Given the description of an element on the screen output the (x, y) to click on. 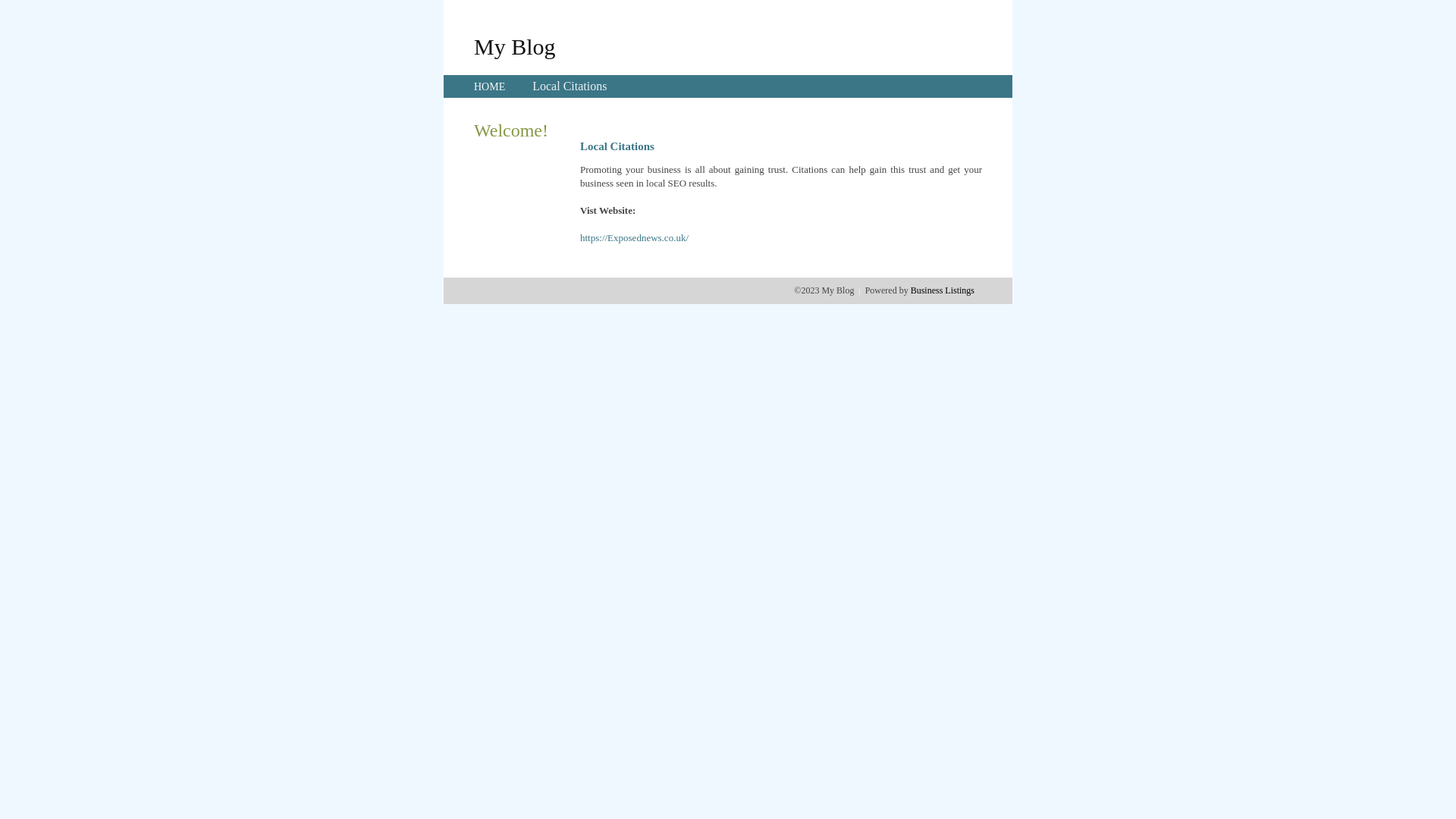
HOME Element type: text (489, 86)
My Blog Element type: text (514, 46)
Local Citations Element type: text (569, 85)
Business Listings Element type: text (942, 290)
https://Exposednews.co.uk/ Element type: text (634, 237)
